Given the description of an element on the screen output the (x, y) to click on. 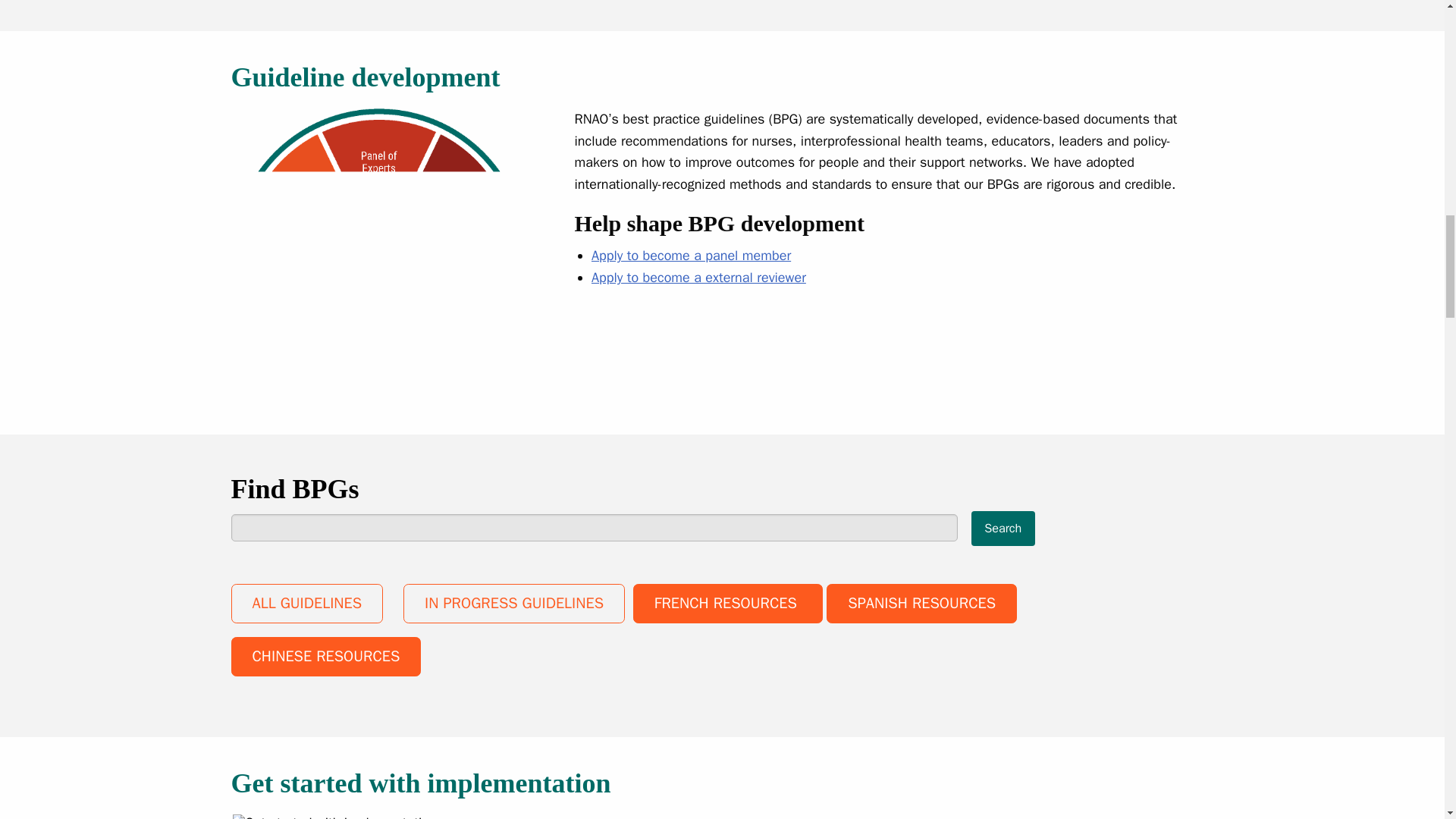
In progress guidelines (513, 603)
Search (1003, 528)
